Given the description of an element on the screen output the (x, y) to click on. 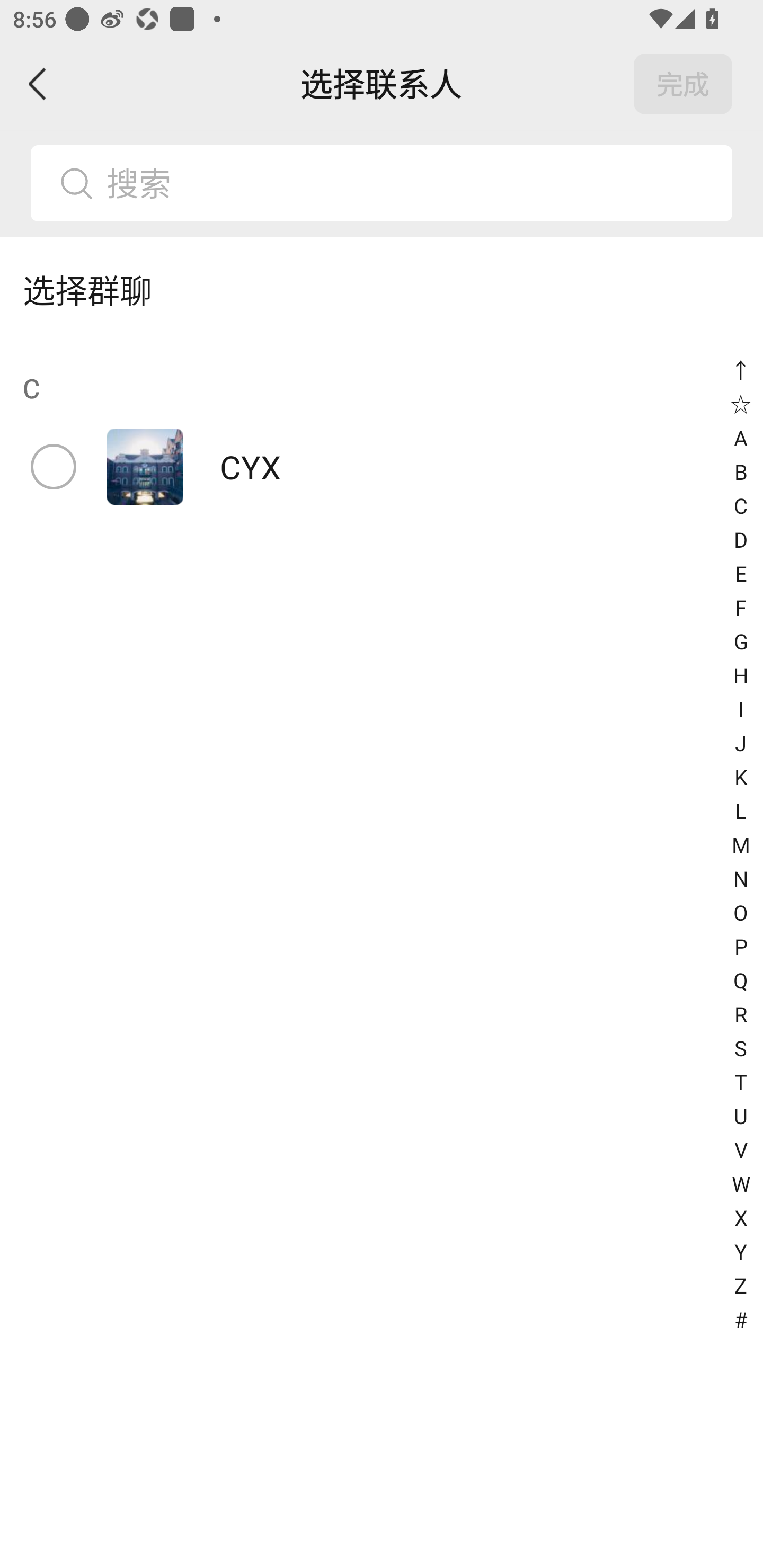
返回 (38, 83)
完成 (683, 83)
搜索 (381, 183)
搜索 (411, 183)
选择群聊 (381, 290)
C CYX (381, 432)
